Given the description of an element on the screen output the (x, y) to click on. 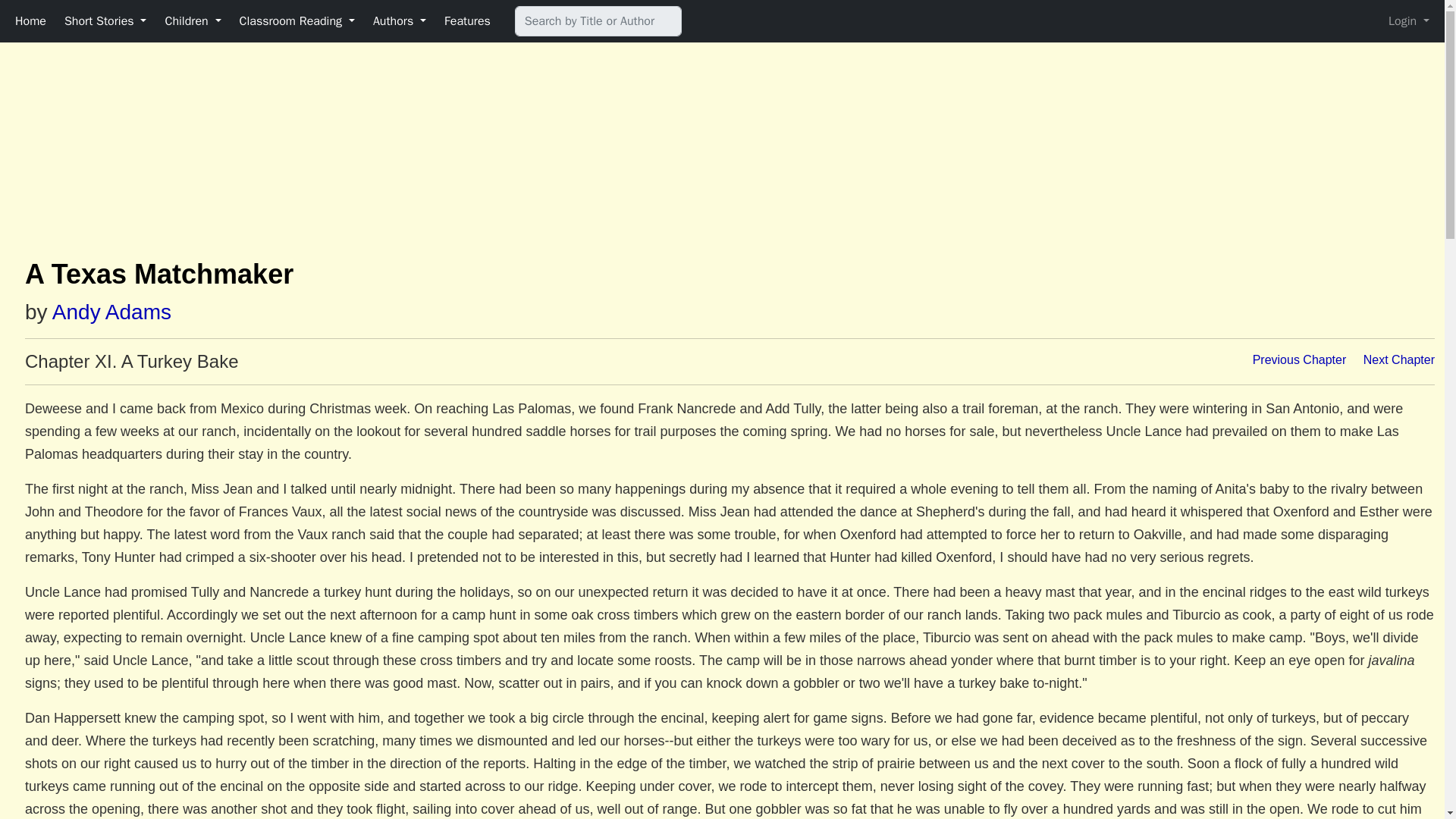
Children (192, 20)
Home (30, 20)
Short Stories (105, 20)
